Given the description of an element on the screen output the (x, y) to click on. 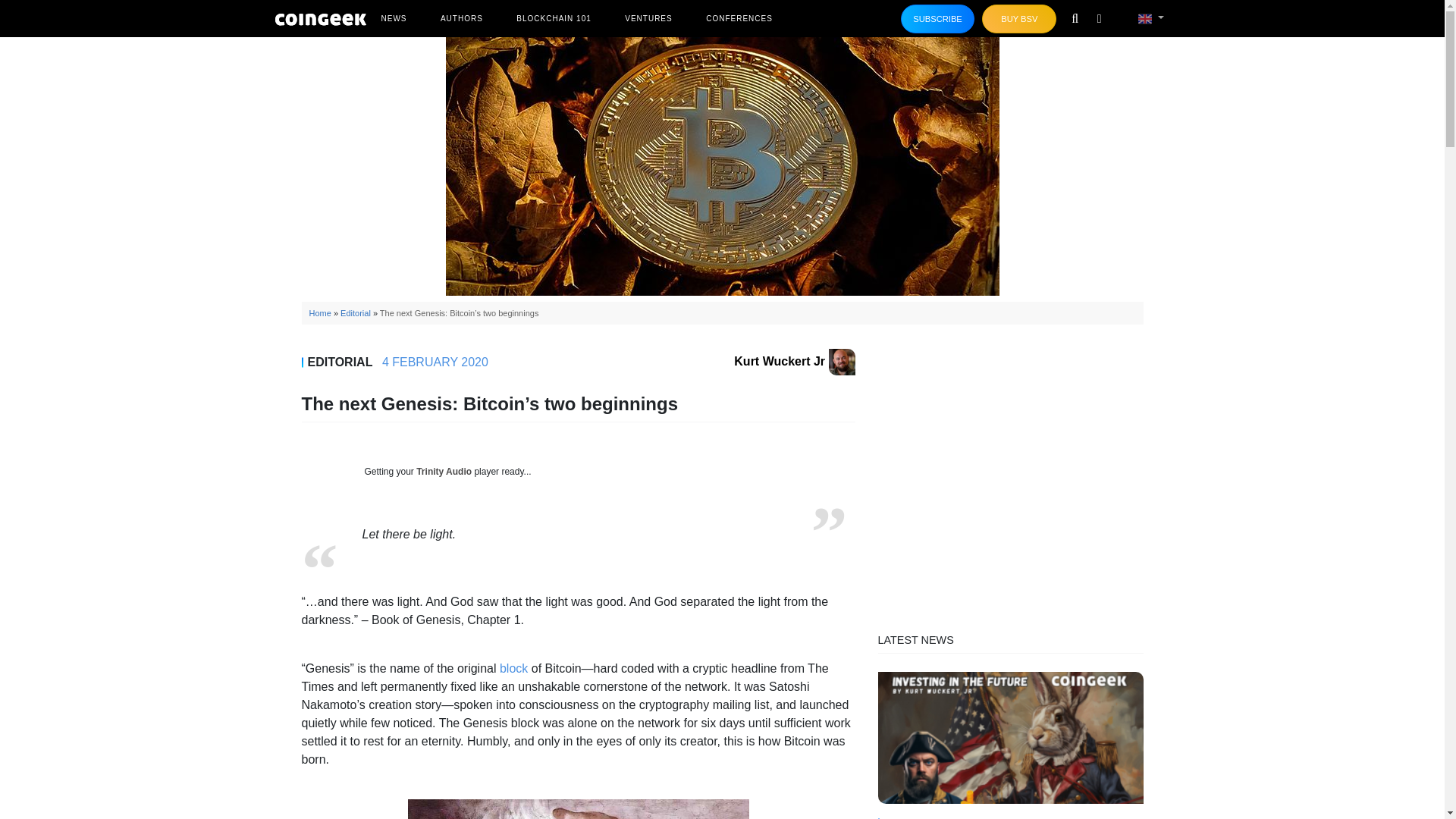
SUBSCRIBE (938, 18)
Kurt Wuckert Jr (793, 360)
AUTHORS (461, 18)
NEWS (392, 18)
CONFERENCES (739, 18)
BUY BSV (1019, 18)
VENTURES (648, 18)
Trinity Audio (443, 471)
BLOCKCHAIN 101 (553, 18)
